Given the description of an element on the screen output the (x, y) to click on. 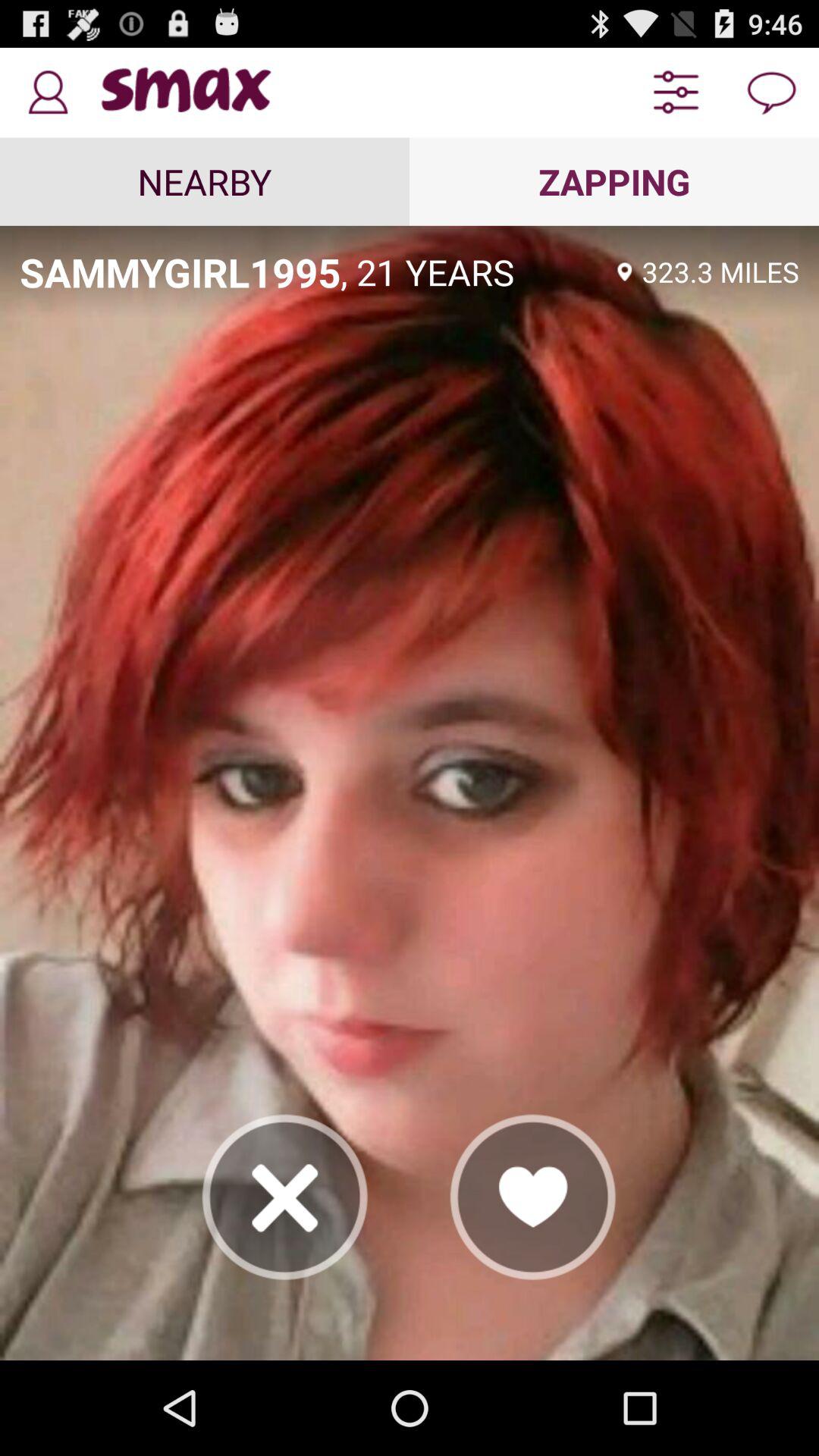
jump until sammygirl1995 item (179, 271)
